Given the description of an element on the screen output the (x, y) to click on. 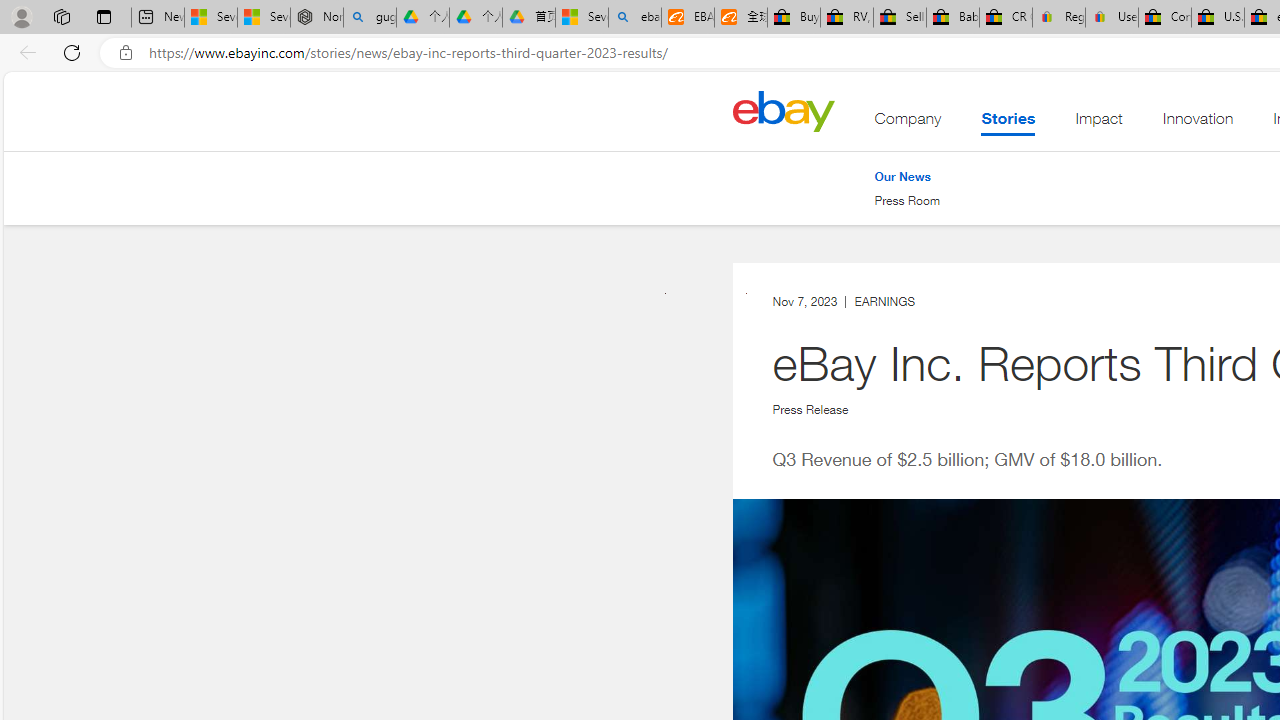
Impact (1098, 123)
Our News (902, 176)
Sell worldwide with eBay (899, 17)
Class: desktop (783, 110)
Press Room (907, 201)
Register: Create a personal eBay account (1059, 17)
Company (908, 123)
